Given the description of an element on the screen output the (x, y) to click on. 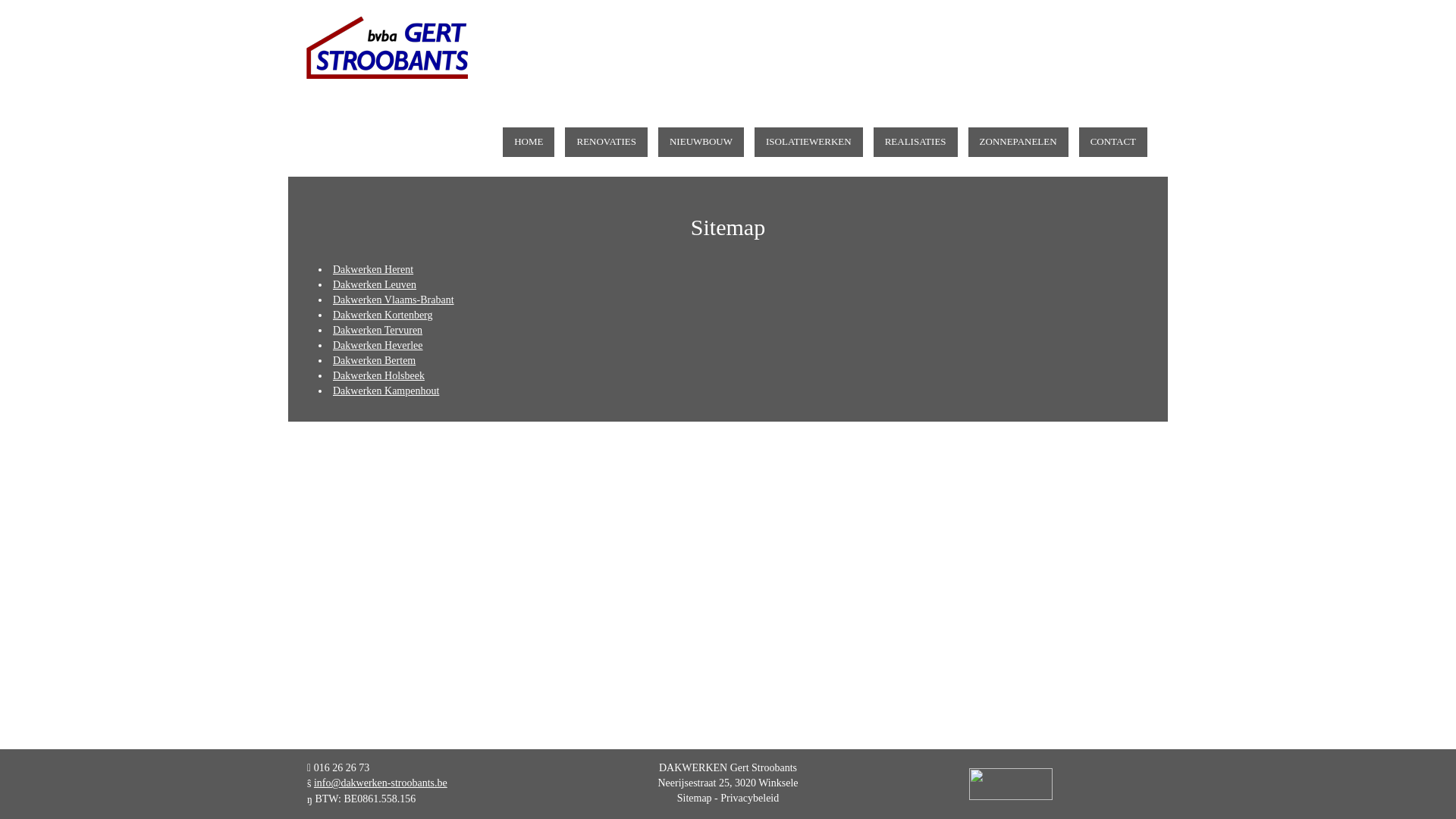
RENOVATIES Element type: text (605, 141)
Dakwerken Heverlee Element type: text (377, 345)
Dakwerken Bertem Element type: text (373, 360)
ZONNEPANELEN Element type: text (1018, 141)
Dakwerken Vlaams-Brabant Element type: text (393, 299)
ICTBoost Webdesign PC-Service Element type: hover (1010, 784)
Dakwerken Herent Element type: text (372, 269)
info@dakwerken-stroobants.be Element type: text (380, 782)
REALISATIES Element type: text (915, 141)
Sitemap Element type: text (694, 797)
Dakwerken Holsbeek Element type: text (378, 375)
Dakwerken Kampenhout Element type: text (385, 390)
Privacybeleid Element type: text (749, 797)
HOME Element type: text (528, 141)
NIEUWBOUW Element type: text (700, 141)
Dakwerken Tervuren Element type: text (377, 329)
Dakwerken Leuven Element type: text (374, 284)
Dakwerken Kortenberg Element type: text (382, 314)
CONTACT Element type: text (1113, 141)
ISOLATIEWERKEN Element type: text (808, 141)
